Given the description of an element on the screen output the (x, y) to click on. 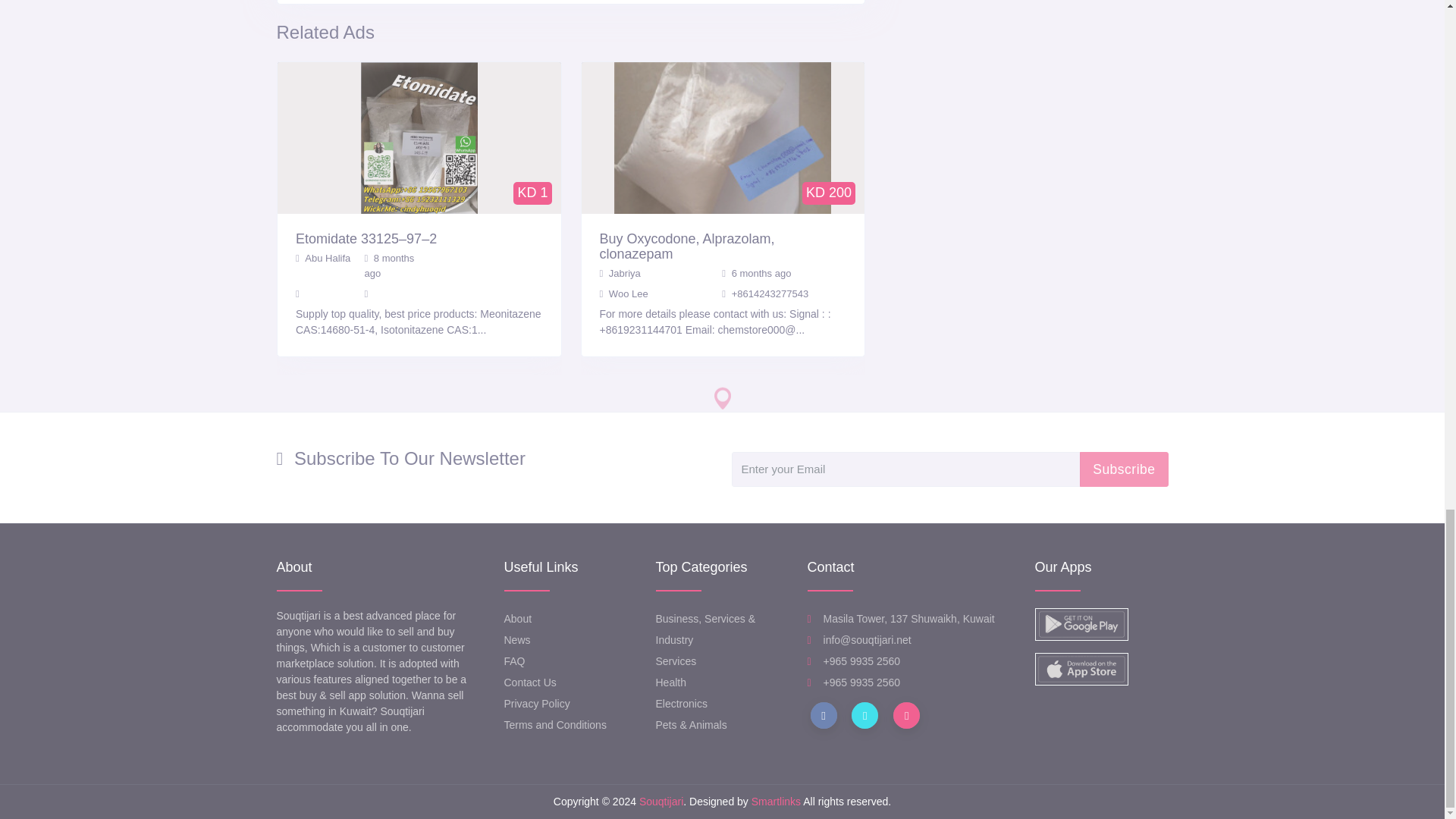
IOS App (1079, 669)
Android App (1079, 624)
